Given the description of an element on the screen output the (x, y) to click on. 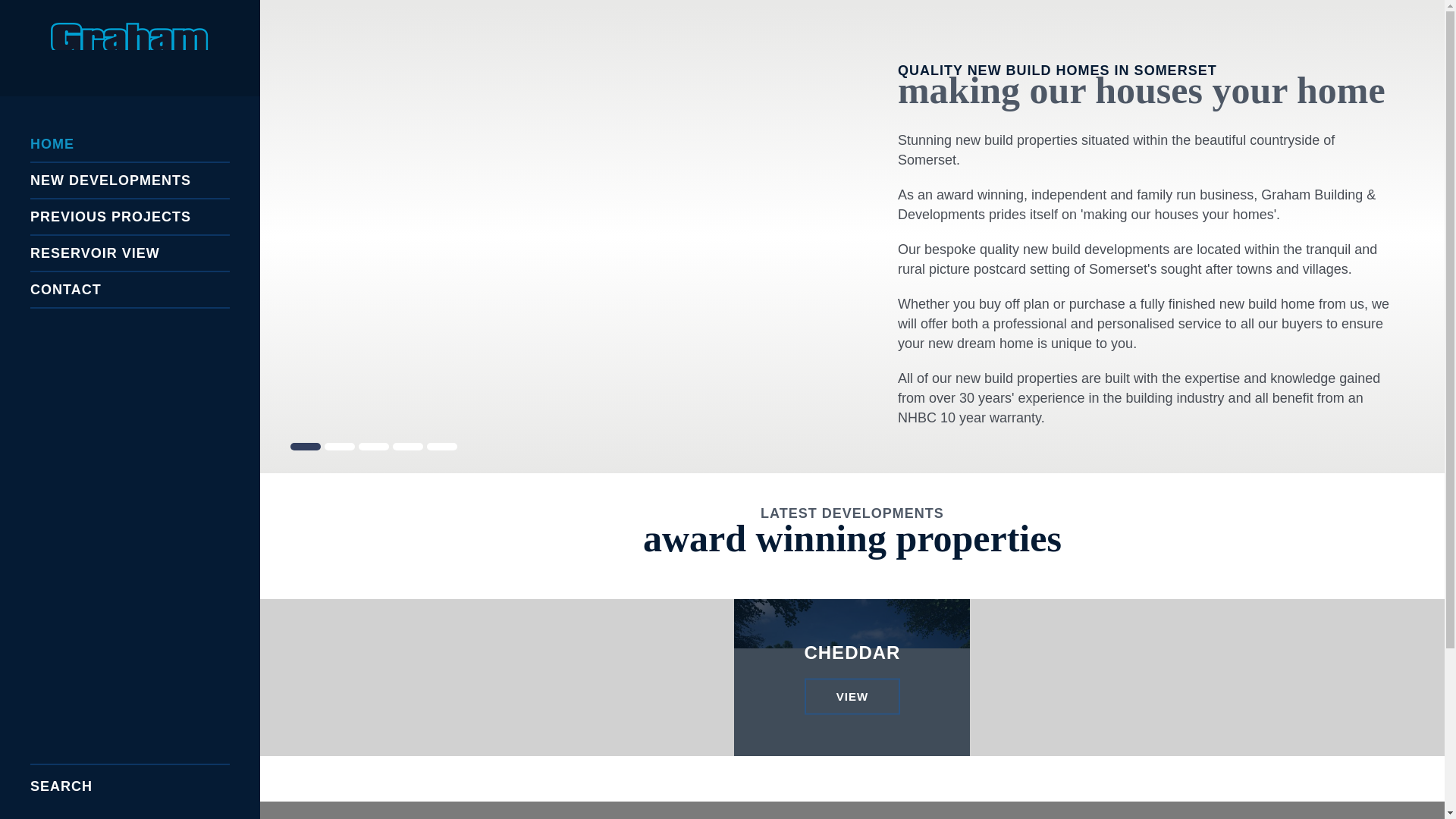
Submit (224, 781)
PREVIOUS PROJECTS (130, 216)
Submit (224, 781)
RESERVOIR VIEW (130, 253)
NEW DEVELOPMENTS (130, 180)
HOME (130, 143)
CONTACT (851, 676)
FIND US ON FACEBOOK (130, 289)
FOLLOW US ON INSTAGRAM (129, 427)
Submit (129, 514)
Return to the home page (224, 781)
